Given the description of an element on the screen output the (x, y) to click on. 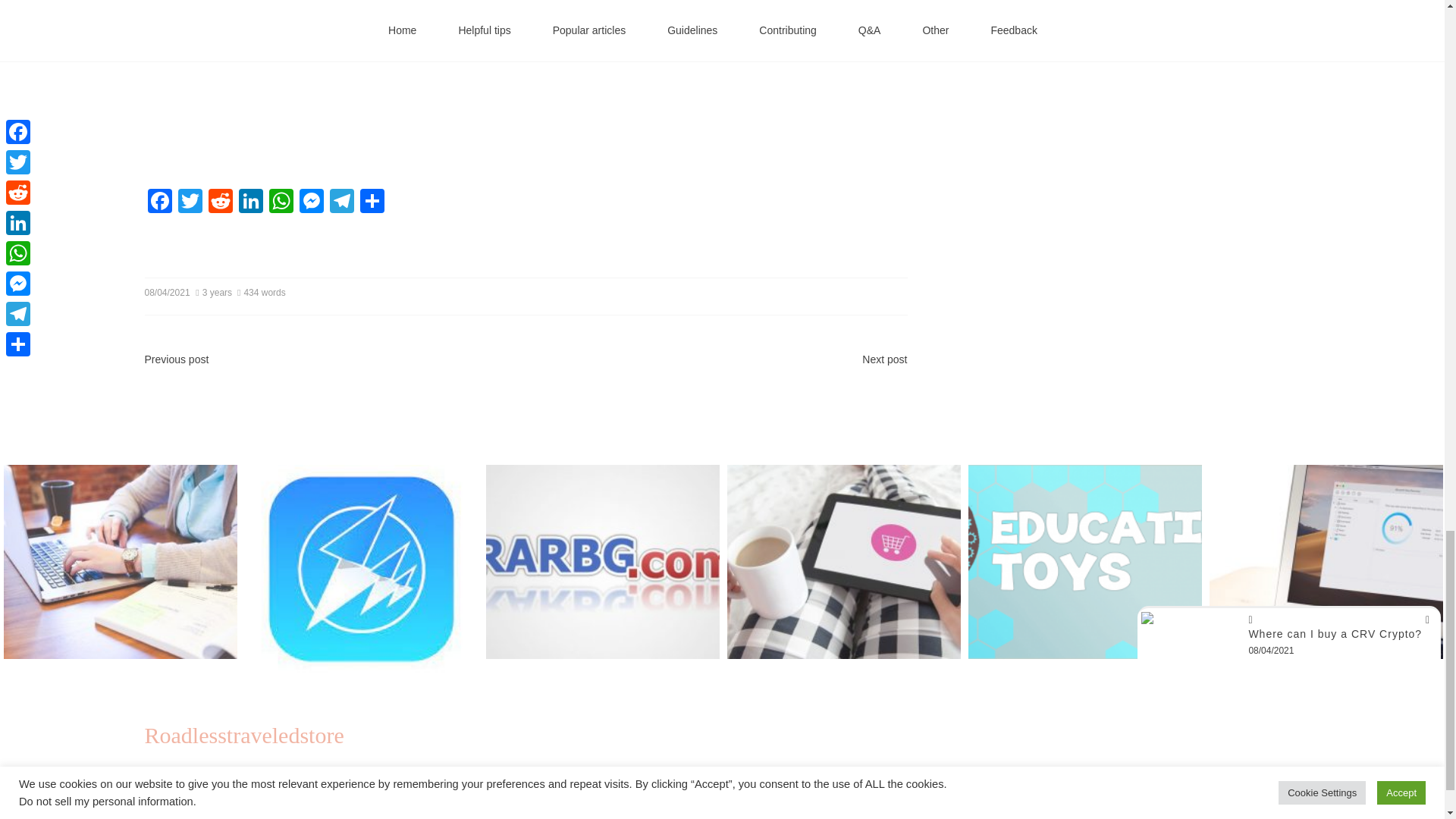
Previous post (176, 358)
Twitter (189, 203)
Reddit (219, 203)
Next post (884, 358)
Telegram (341, 203)
Messenger (310, 203)
Twitter (189, 203)
Reddit (219, 203)
WhatsApp (279, 203)
Telegram (341, 203)
3 years (214, 292)
Coccidioides, Paracoccidioides,Talaromycosis Penicillium (386, 80)
LinkedIn (249, 203)
Messenger (310, 203)
WhatsApp (279, 203)
